Given the description of an element on the screen output the (x, y) to click on. 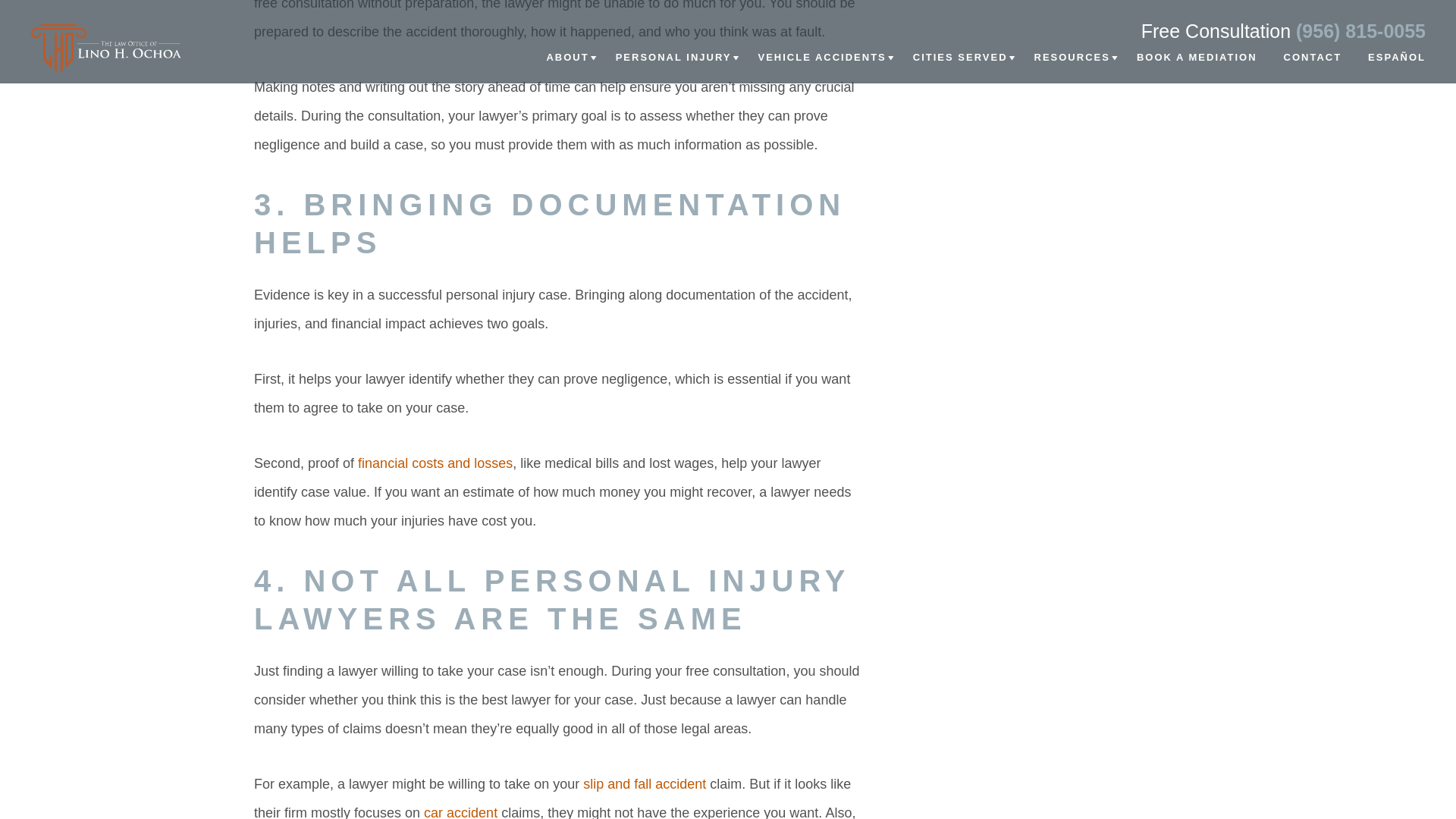
financial costs and losses (435, 464)
slip and fall accident (644, 784)
car accident (460, 812)
